Given the description of an element on the screen output the (x, y) to click on. 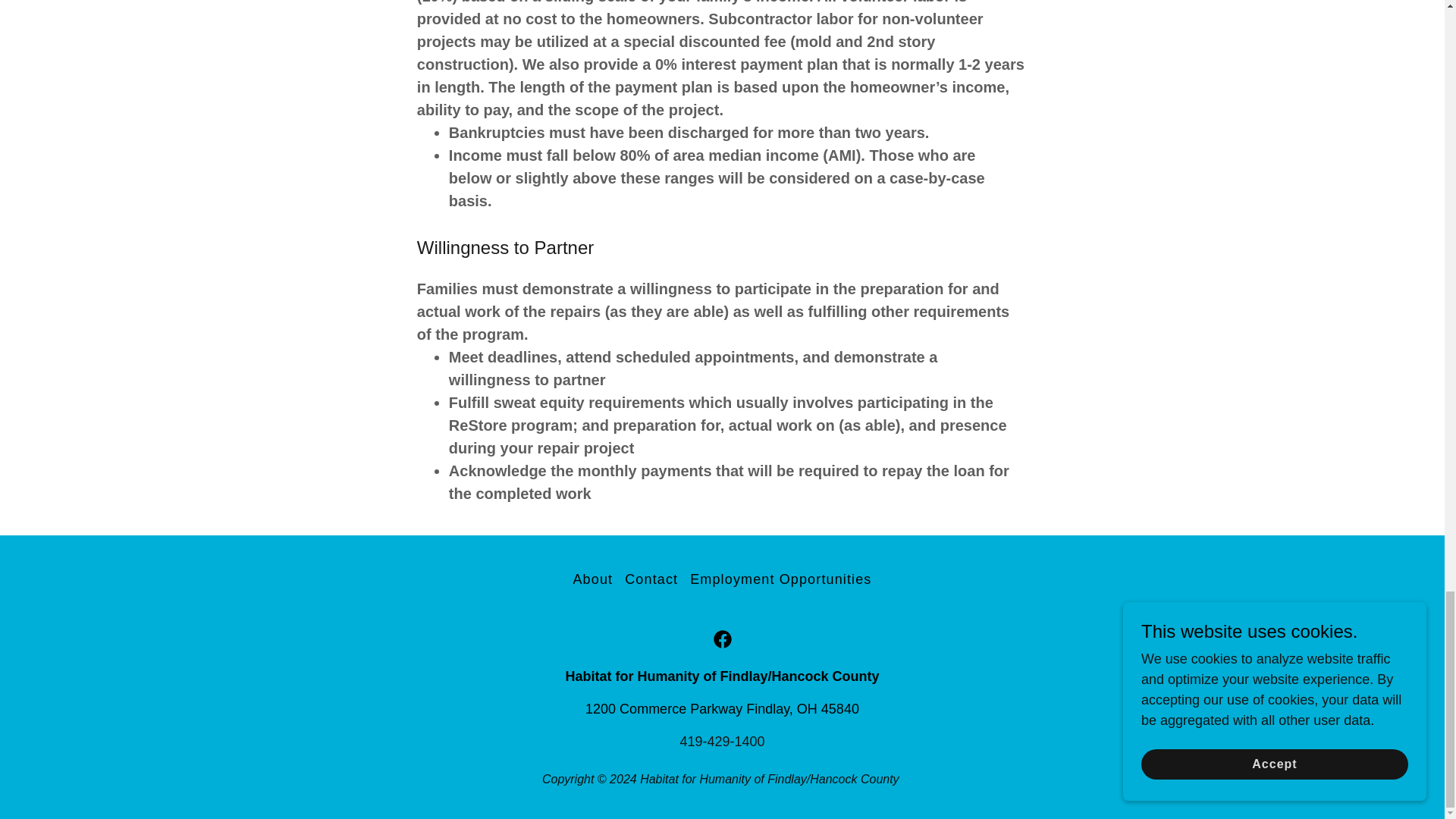
About (592, 579)
Contact (651, 579)
Employment Opportunities (780, 579)
